Given the description of an element on the screen output the (x, y) to click on. 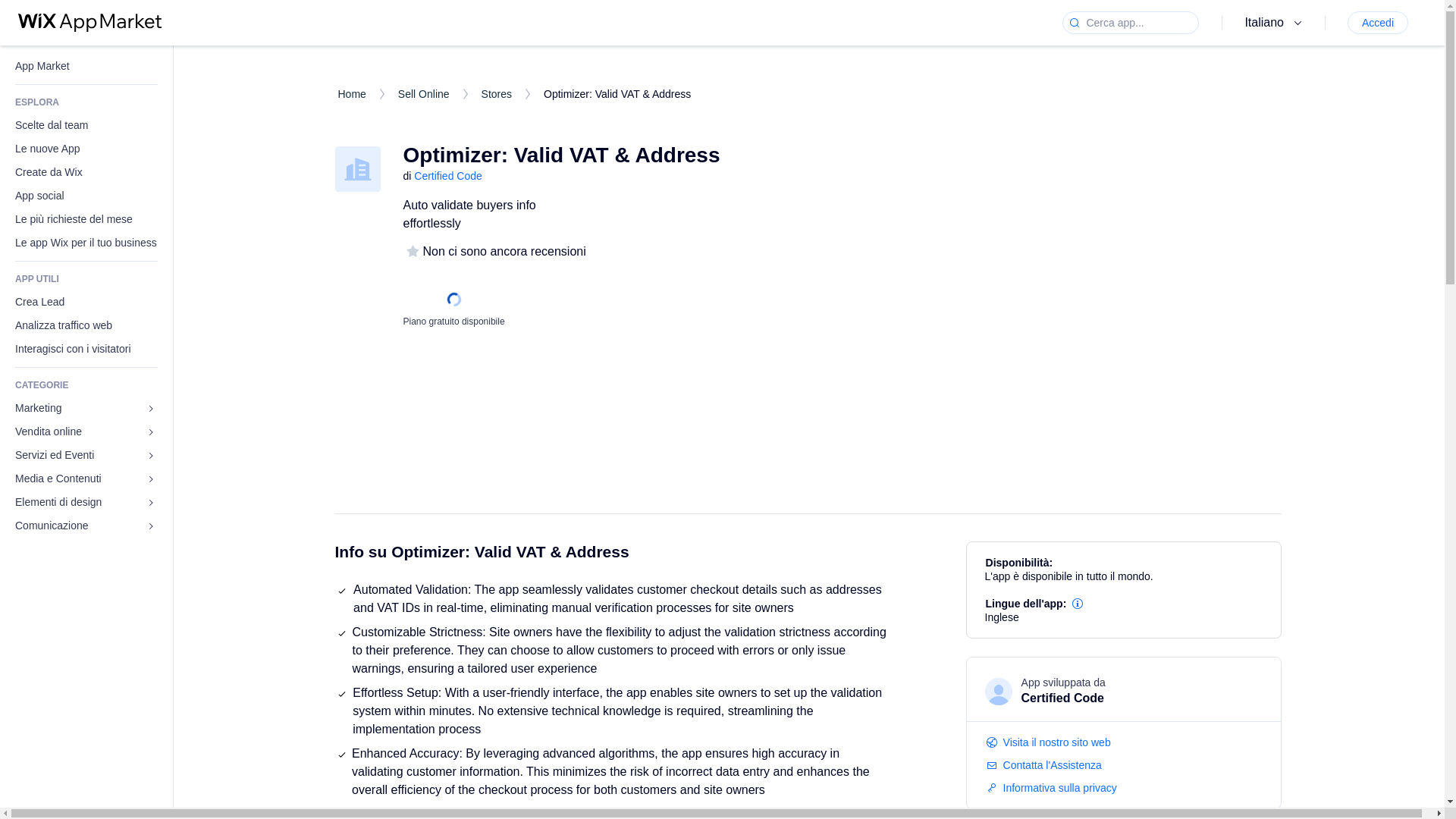
Marketing (86, 408)
Crea Lead (86, 301)
Le nuove App (86, 148)
Vendita online (86, 431)
Italiano (1275, 22)
App Market (86, 65)
Accedi (1377, 22)
Interagisci con i visitatori (86, 349)
Servizi ed Eventi (86, 454)
Create da Wix (86, 172)
Le app Wix per il tuo business (86, 242)
Scelte dal team (86, 125)
App social (86, 196)
Analizza traffico web (86, 325)
